Given the description of an element on the screen output the (x, y) to click on. 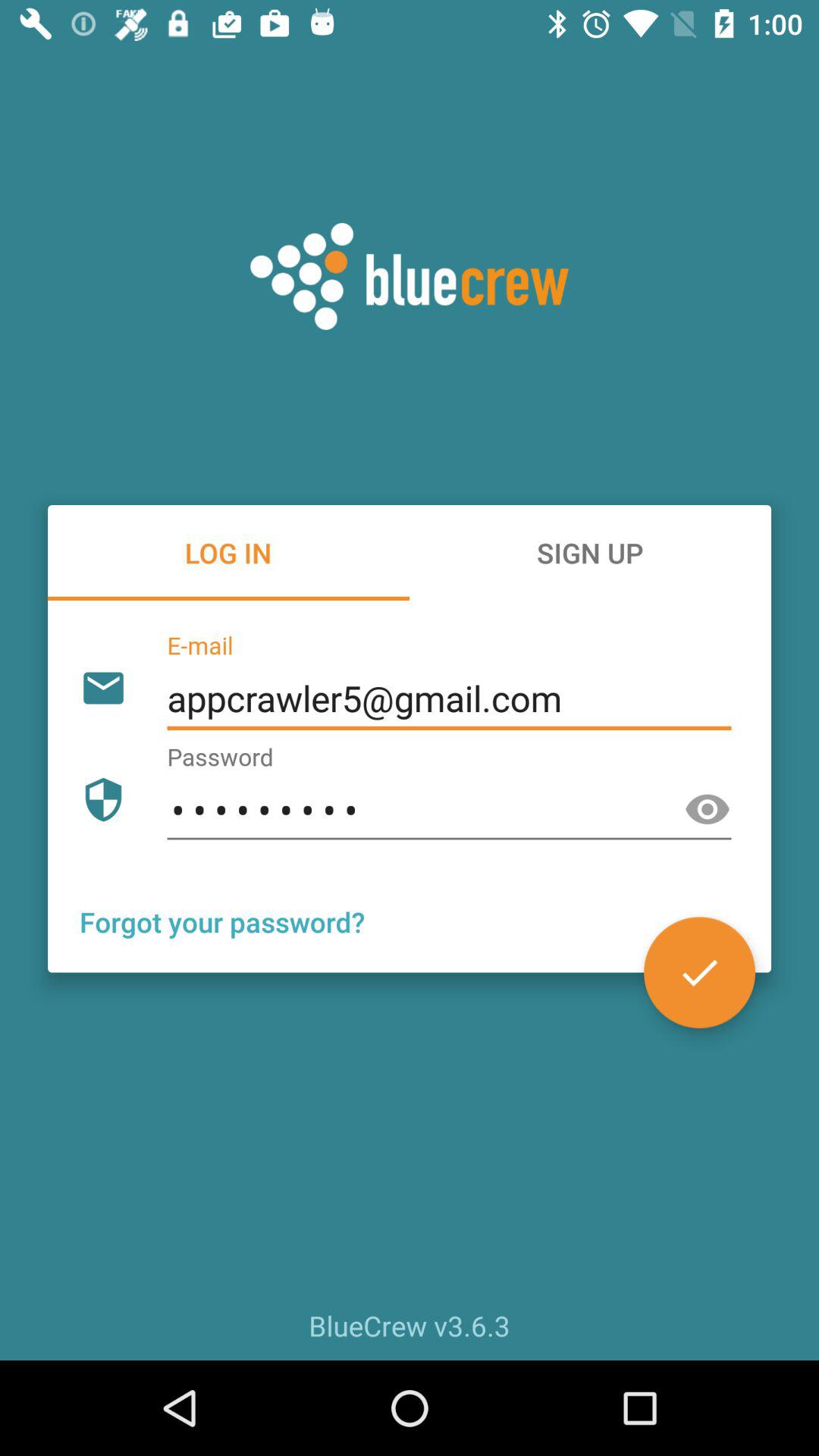
safty app (707, 809)
